Given the description of an element on the screen output the (x, y) to click on. 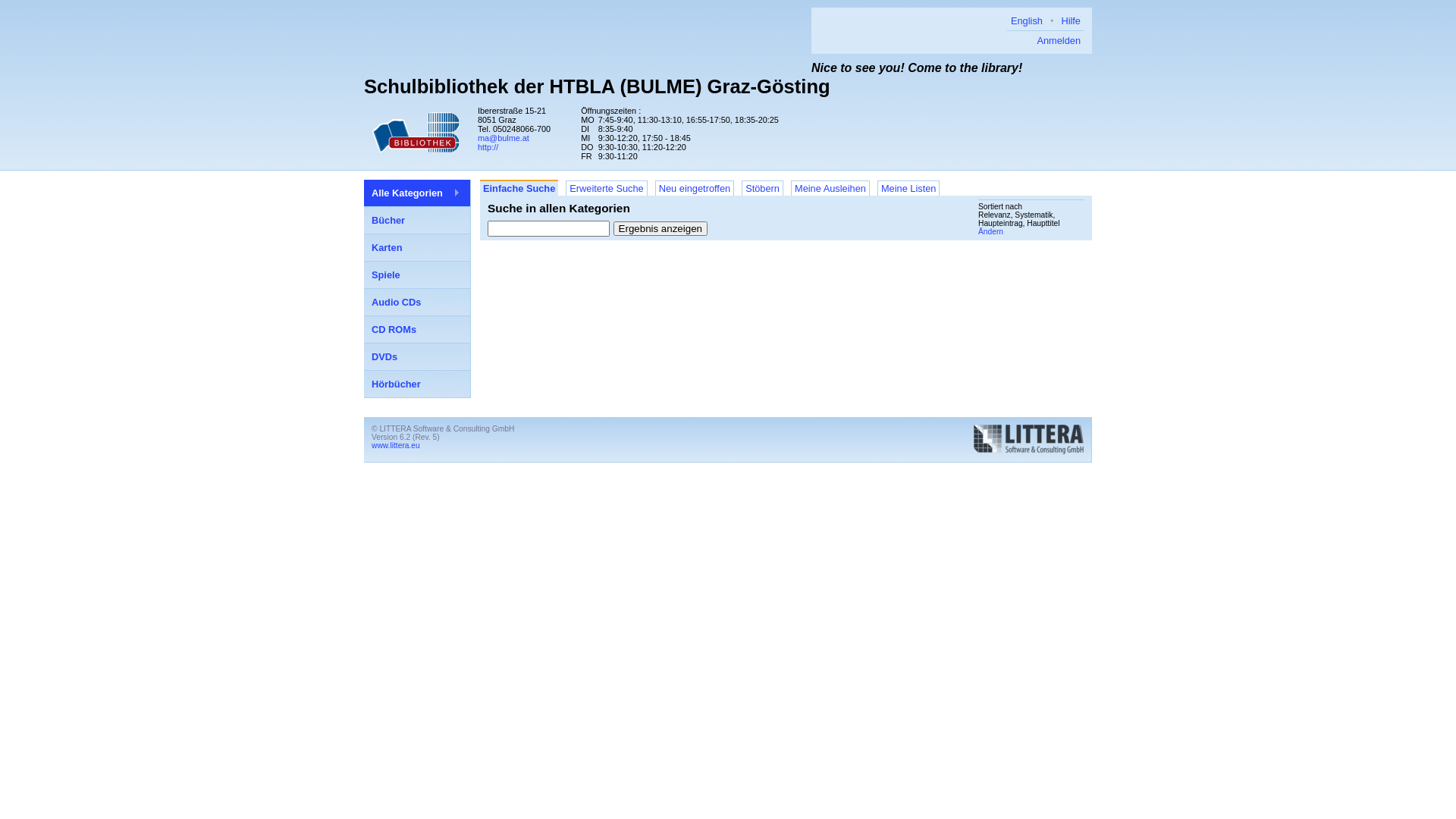
Einfache Suche Element type: text (519, 187)
http:// Element type: text (487, 146)
CD ROMs Element type: text (417, 329)
ma@bulme.at Element type: text (503, 137)
Ergebnis anzeigen Element type: text (660, 228)
Neu eingetroffen Element type: text (694, 187)
Hilfe Element type: text (1070, 21)
Alle Kategorien Element type: text (417, 193)
Erweiterte Suche Element type: text (605, 187)
DVDs Element type: text (417, 356)
Meine Listen Element type: text (908, 187)
Anmelden Element type: text (1058, 40)
www.littera.eu Element type: text (395, 445)
Spiele Element type: text (417, 274)
English Element type: text (1026, 21)
Karten Element type: text (417, 247)
Audio CDs Element type: text (417, 302)
Meine Ausleihen Element type: text (829, 187)
